Given the description of an element on the screen output the (x, y) to click on. 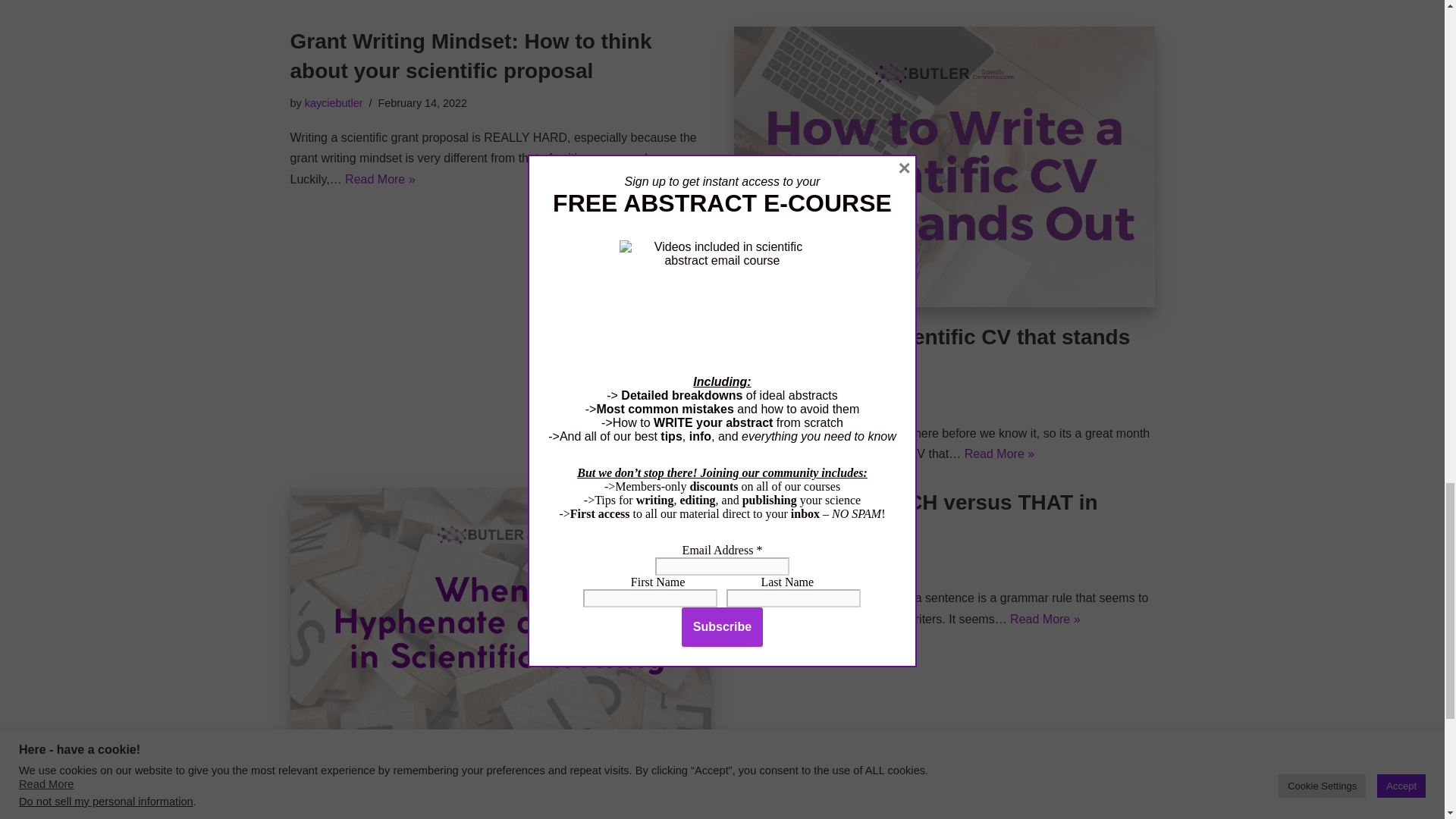
How to write a scientific CV that stands out (943, 166)
Posts by kayciebutler (333, 102)
Posts by kayciebutler (777, 398)
